Given the description of an element on the screen output the (x, y) to click on. 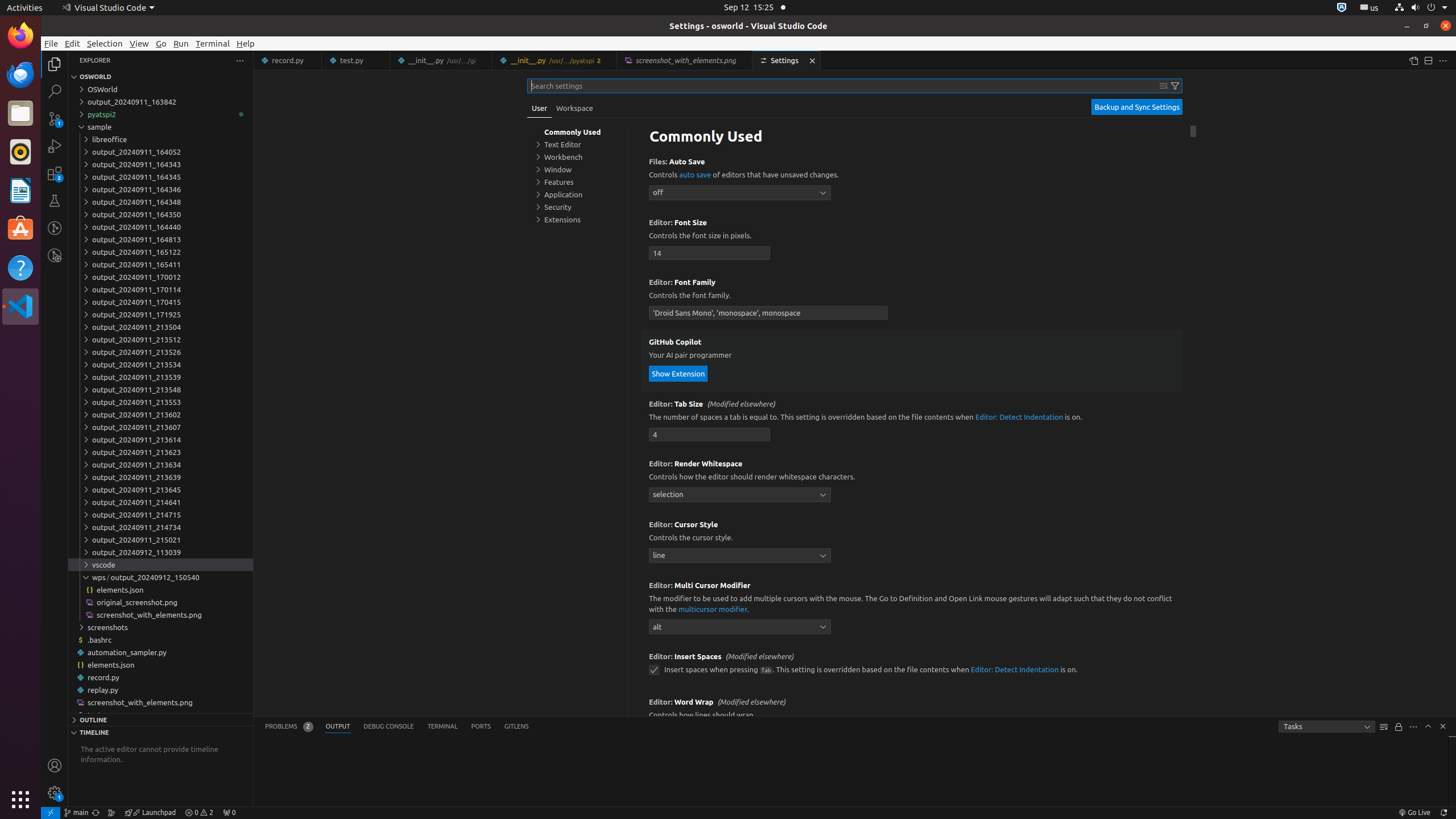
Problems (Ctrl+Shift+M) - Total 2 Problems Element type: page-tab (288, 726)
output_20240911_213614 Element type: tree-item (160, 439)
Outline Section Element type: push-button (160, 719)
output_20240911_213602 Element type: tree-item (160, 414)
